Given the description of an element on the screen output the (x, y) to click on. 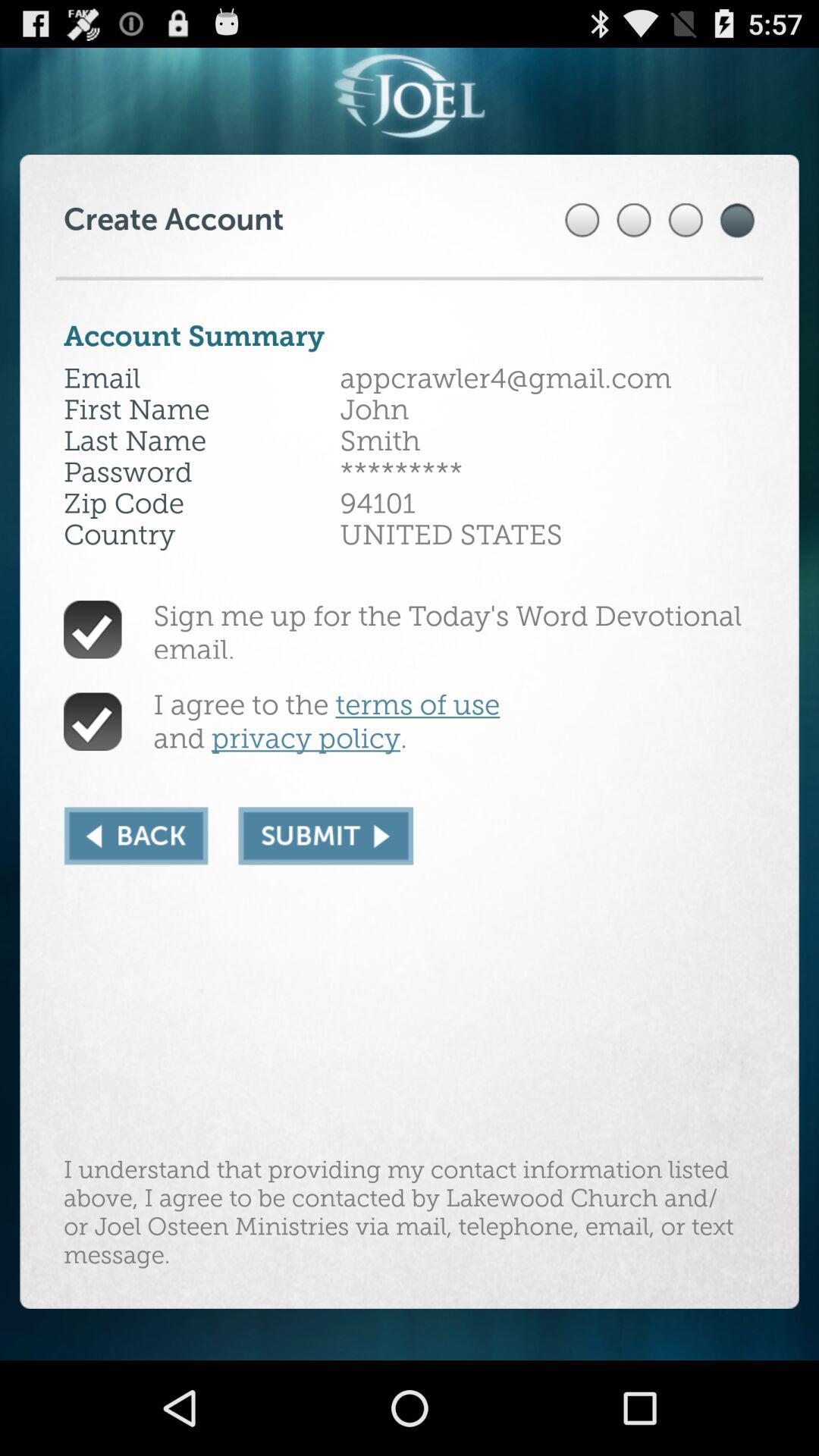
the highlighted area allows one to sign up for the daily devotional (325, 836)
